Given the description of an element on the screen output the (x, y) to click on. 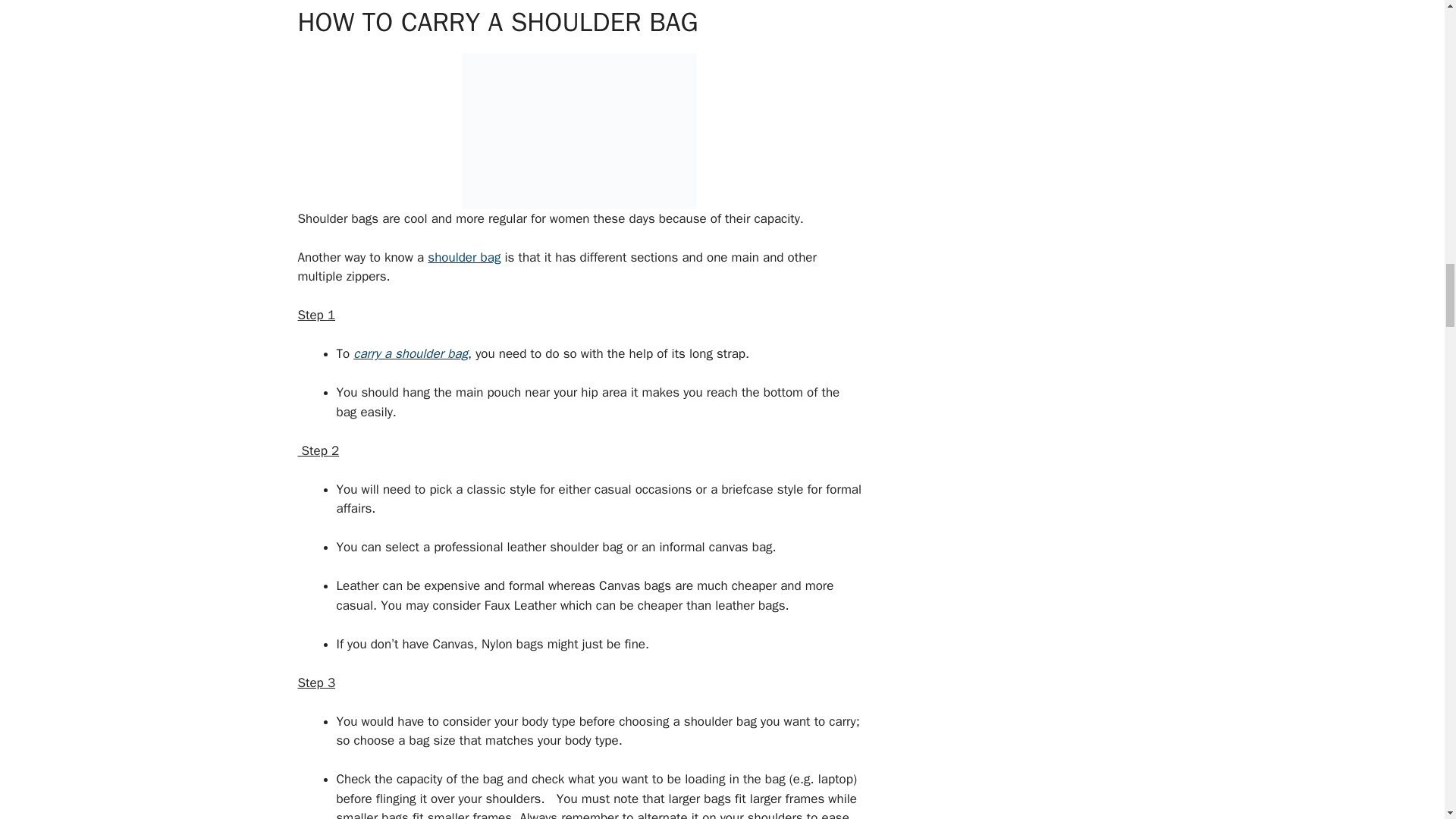
HOW TO CARRY A PURSE WITH SHORT HANDLES 3 (580, 131)
